Given the description of an element on the screen output the (x, y) to click on. 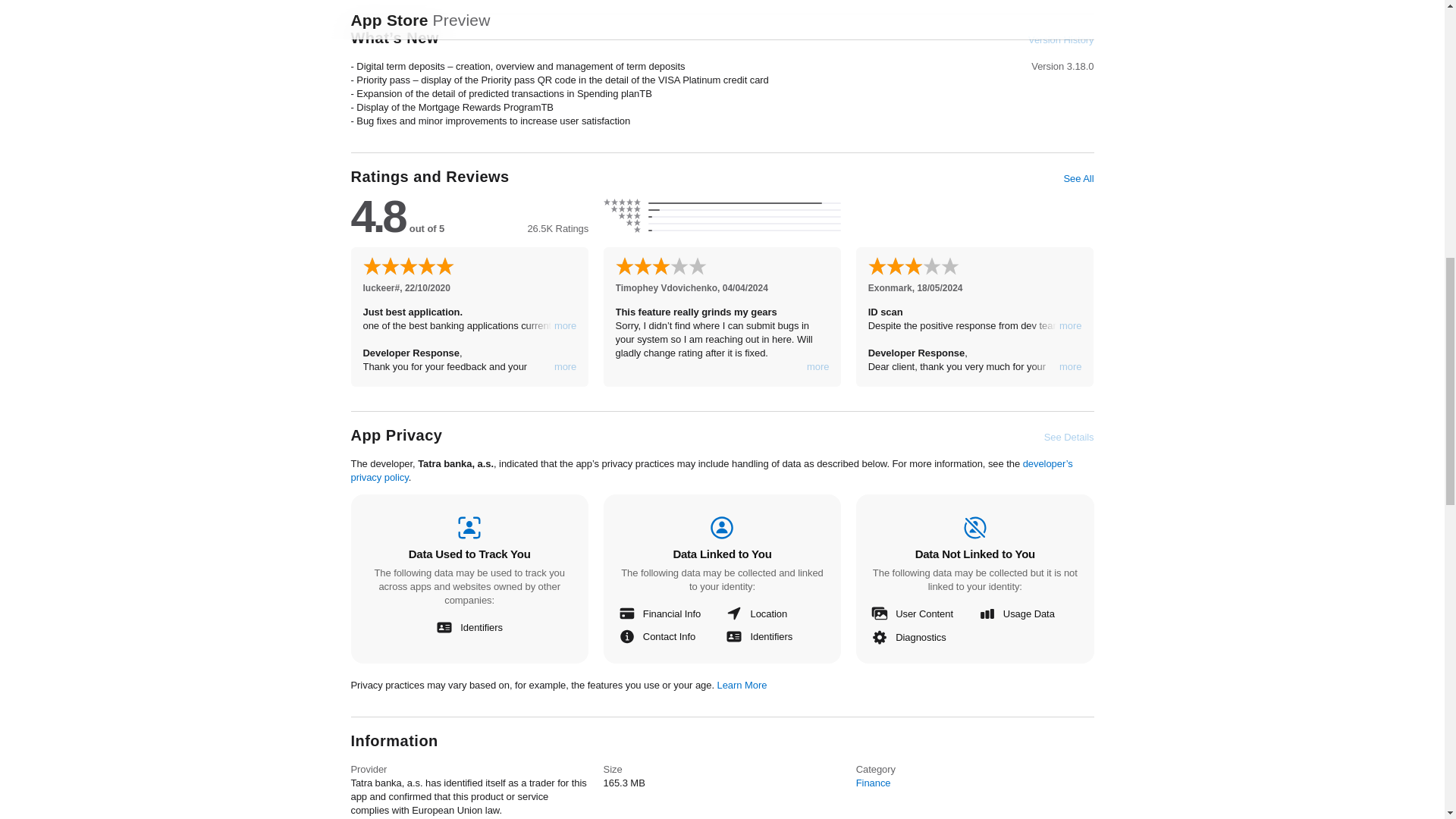
more (817, 366)
Learn More (742, 685)
more (565, 325)
Version History (1060, 39)
See All (1077, 178)
more (565, 366)
more (1070, 366)
Finance (873, 782)
more (1070, 325)
See Details (1068, 437)
